Given the description of an element on the screen output the (x, y) to click on. 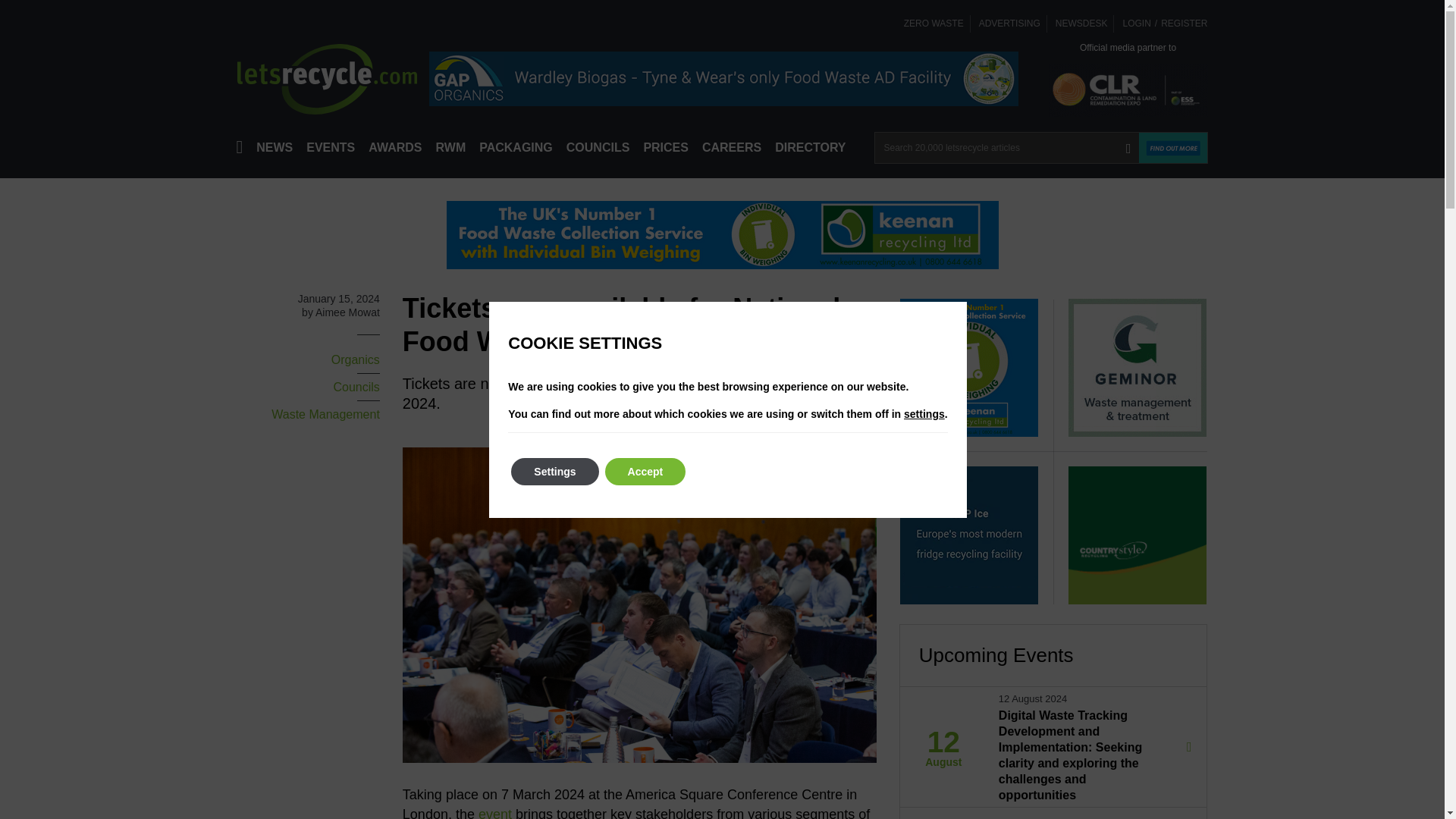
REGISTER (1185, 23)
AWARDS (394, 147)
NEWSDESK (1081, 23)
LOGIN (1134, 23)
ADVERTISING (1009, 23)
EVENTS (330, 147)
NEWS (273, 147)
Settings (554, 471)
ZERO WASTE (933, 23)
